Given the description of an element on the screen output the (x, y) to click on. 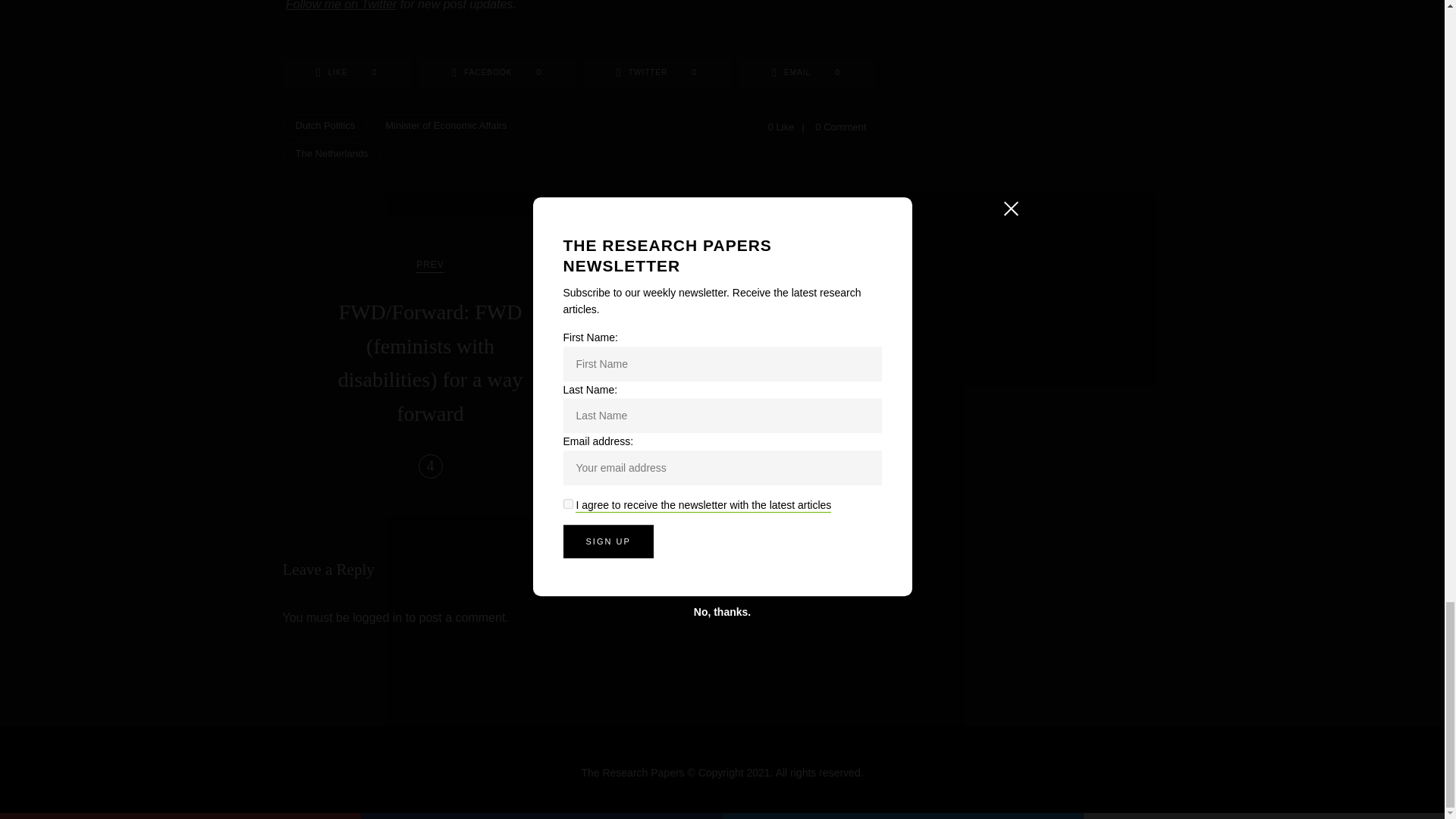
Like (346, 72)
Facebook (497, 72)
Twitter (656, 72)
Email (806, 72)
